Given the description of an element on the screen output the (x, y) to click on. 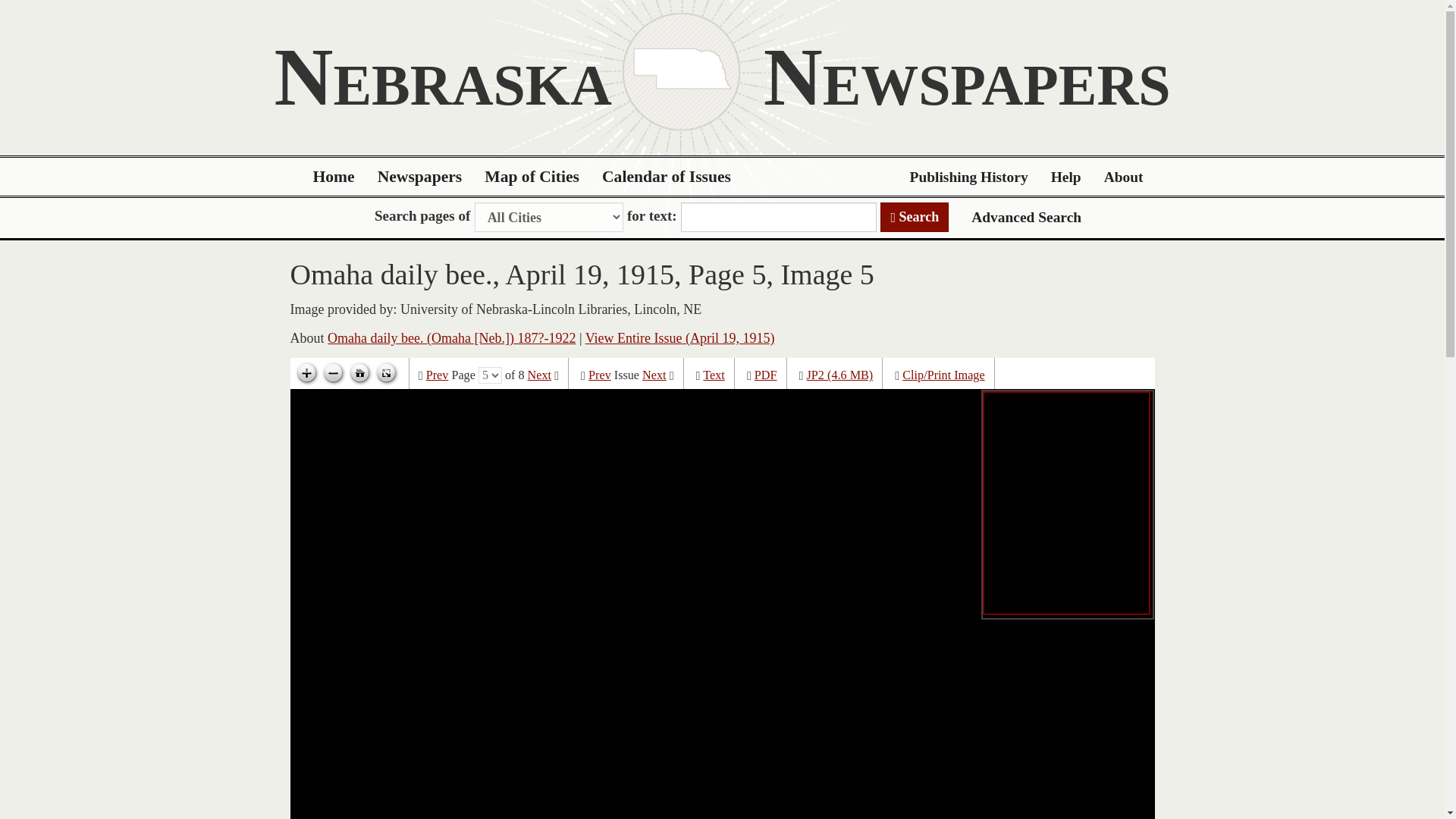
Prev (599, 375)
Publishing History (968, 176)
Advanced Search (1026, 216)
Map of Cities (532, 176)
Next (653, 375)
Zoom in (307, 373)
Go home (359, 373)
PDF (765, 375)
About (1123, 176)
Home (333, 176)
